Given the description of an element on the screen output the (x, y) to click on. 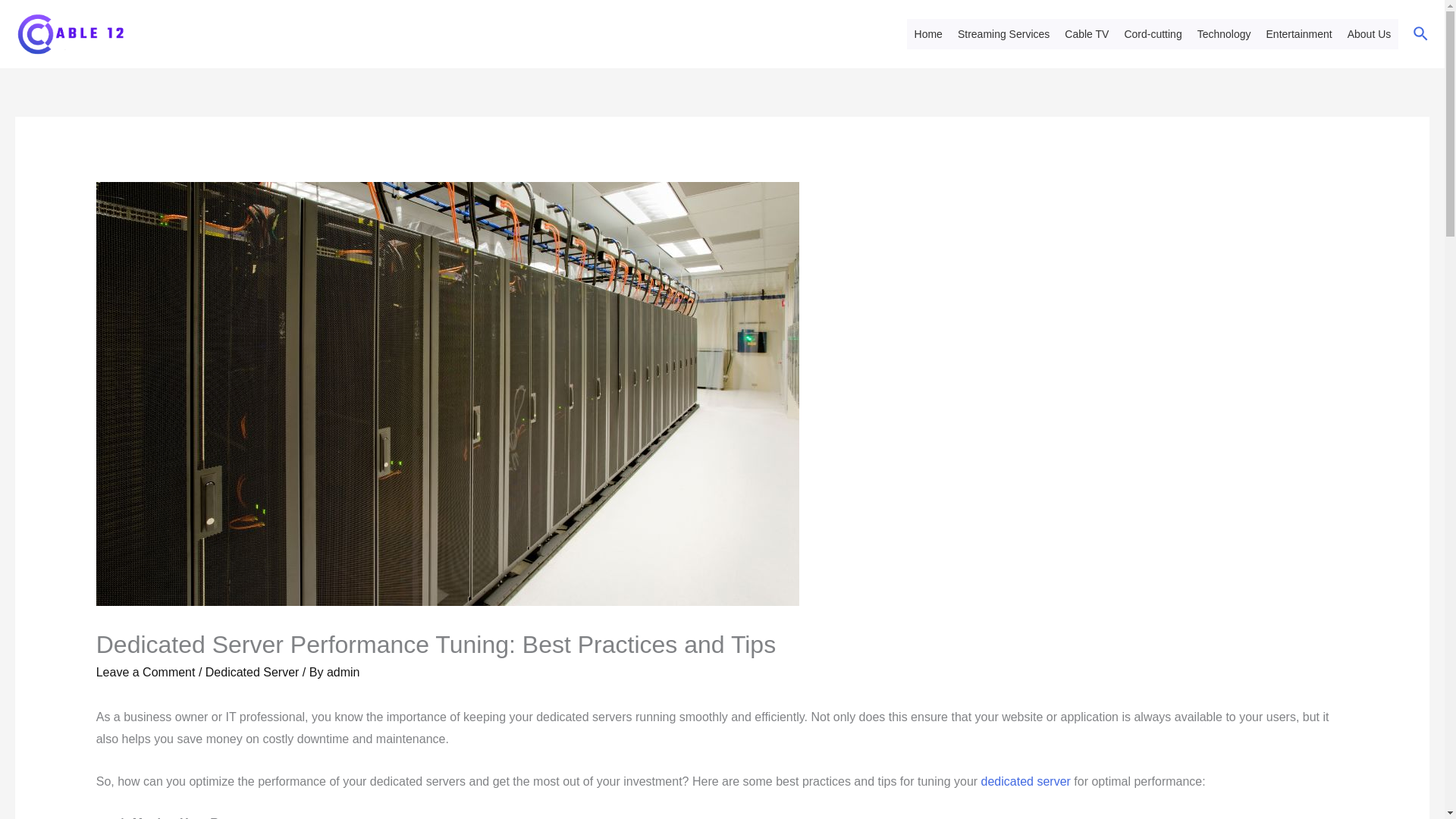
Leave a Comment (145, 671)
Entertainment (1299, 33)
Streaming Services (1003, 33)
dedicated server (1025, 780)
Cable TV (1086, 33)
Home (928, 33)
Technology (1224, 33)
About Us (1369, 33)
admin (342, 671)
Dedicated Server (252, 671)
Cord-cutting (1152, 33)
dedicated server (1025, 780)
Search (1421, 34)
View all posts by admin (342, 671)
